Given the description of an element on the screen output the (x, y) to click on. 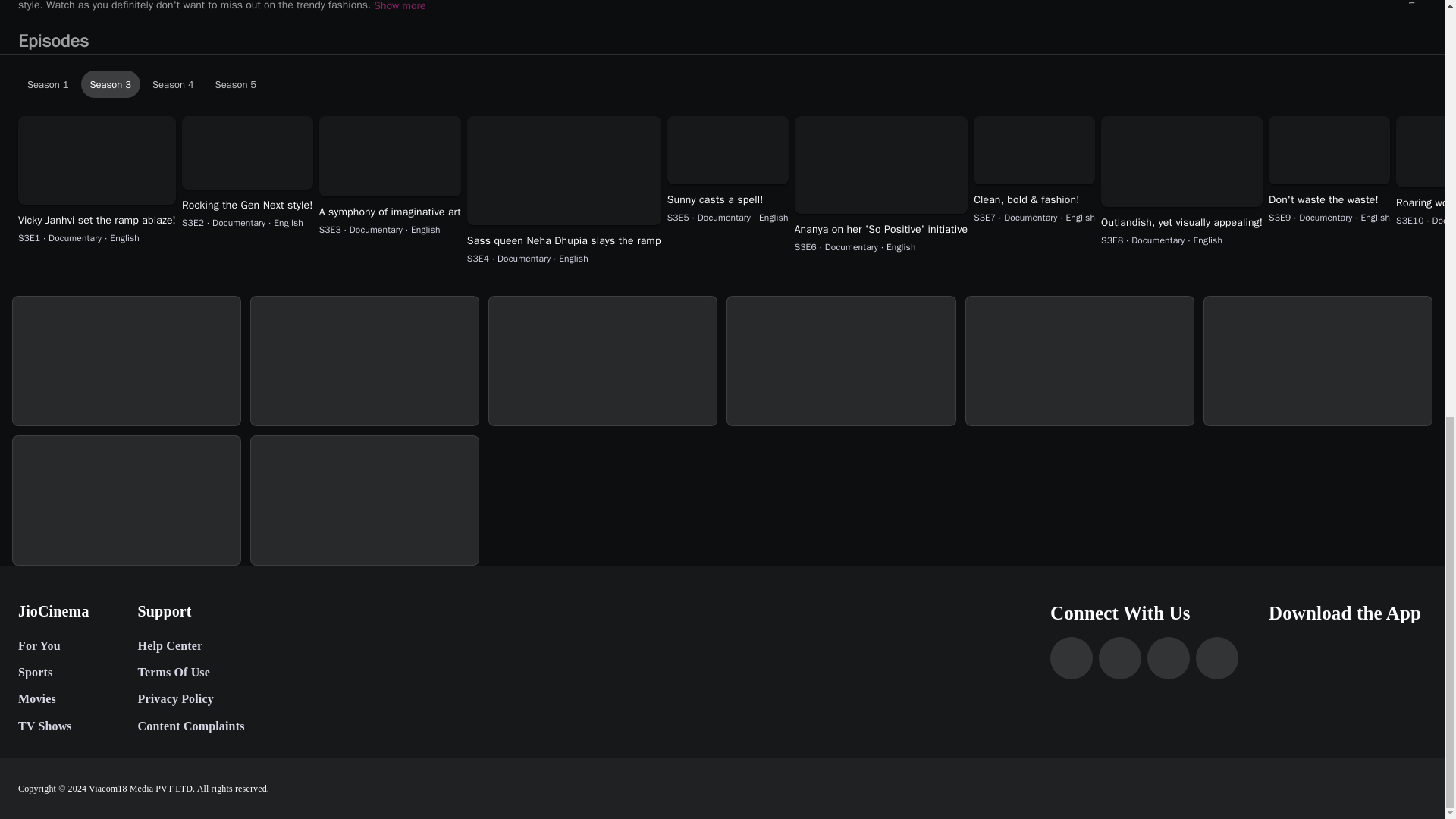
Don't waste the waste! (1329, 200)
Vicky-Janhvi set the ramp ablaze! (96, 220)
Rocking the Gen Next style! (247, 205)
Outlandish, yet visually appealing! (1181, 222)
Season 4 (724, 83)
Ananya on her 'So Positive' initiative (172, 83)
Season 3 (881, 229)
Season 5 (111, 83)
Season 1 (236, 83)
